Given the description of an element on the screen output the (x, y) to click on. 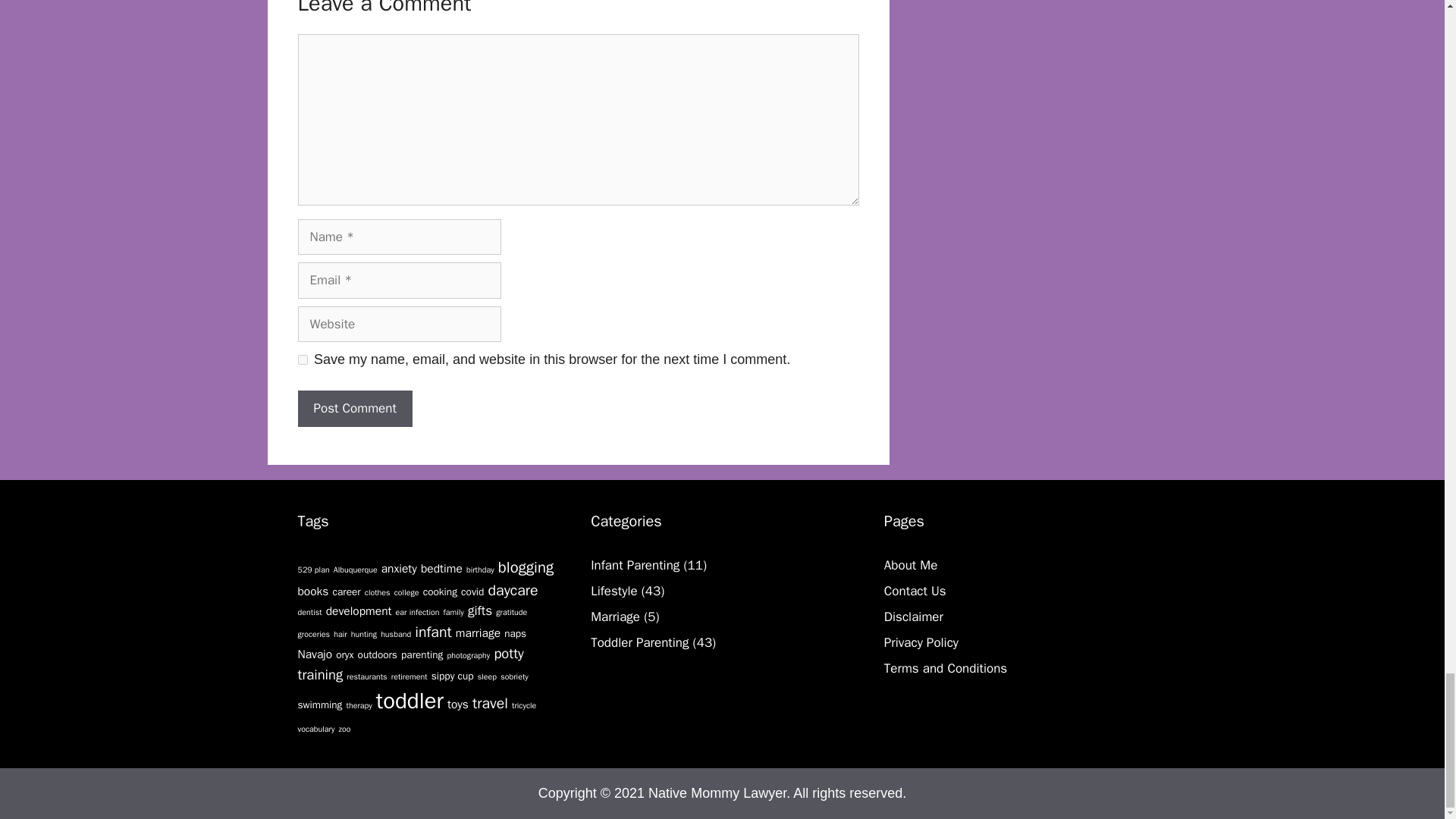
Post Comment (354, 408)
yes (302, 359)
covid (472, 591)
Post Comment (354, 408)
529 plan (313, 569)
bedtime (441, 568)
anxiety (398, 568)
blogging (525, 567)
cooking (440, 591)
clothes (377, 592)
